Given the description of an element on the screen output the (x, y) to click on. 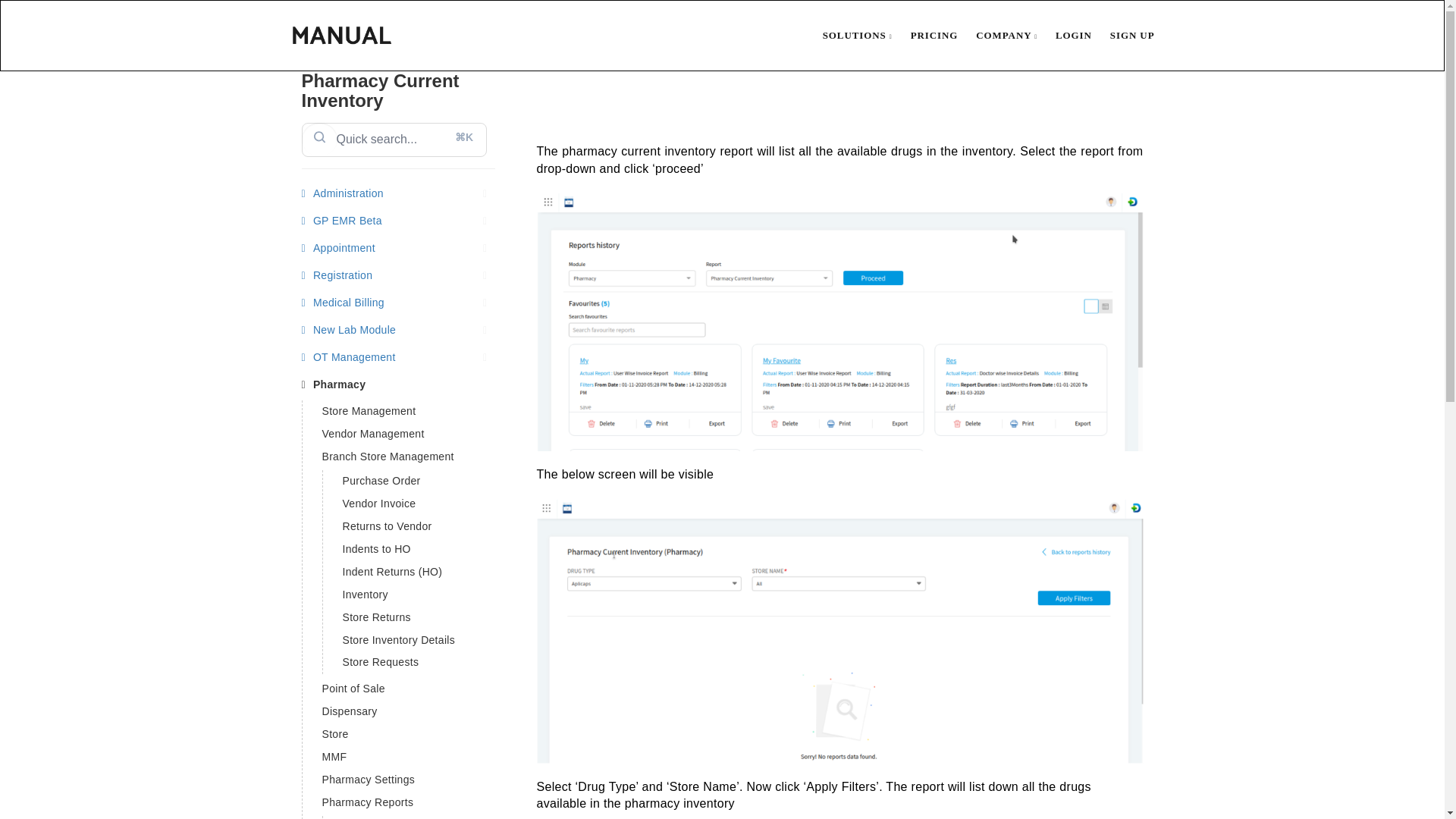
Home (848, 35)
SOLUTIONS (848, 35)
PRICING (925, 35)
Administration (398, 194)
COMPANY (997, 35)
Search for: (394, 139)
SIGN UP (1123, 35)
